Given the description of an element on the screen output the (x, y) to click on. 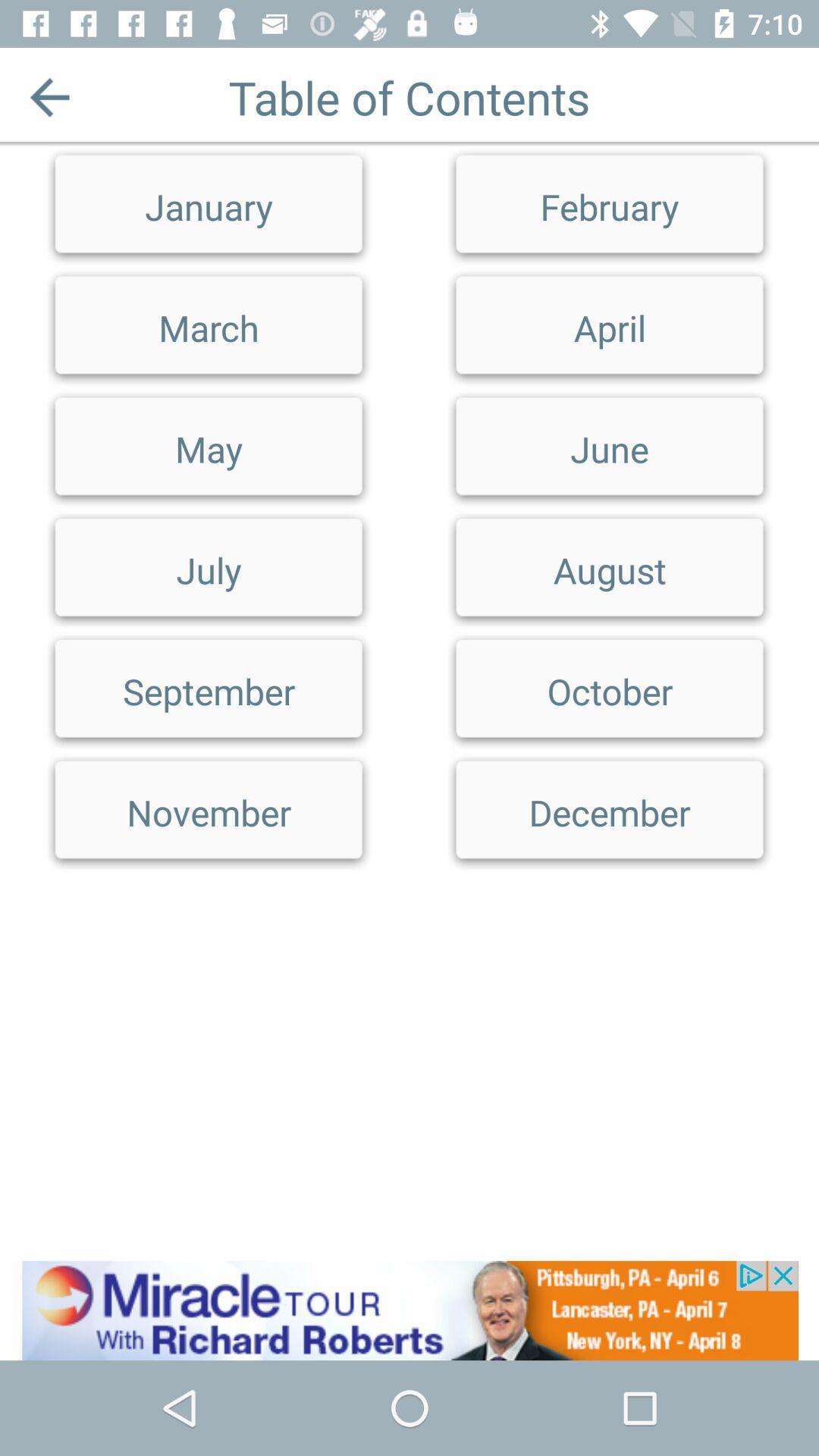
go back (49, 97)
